Given the description of an element on the screen output the (x, y) to click on. 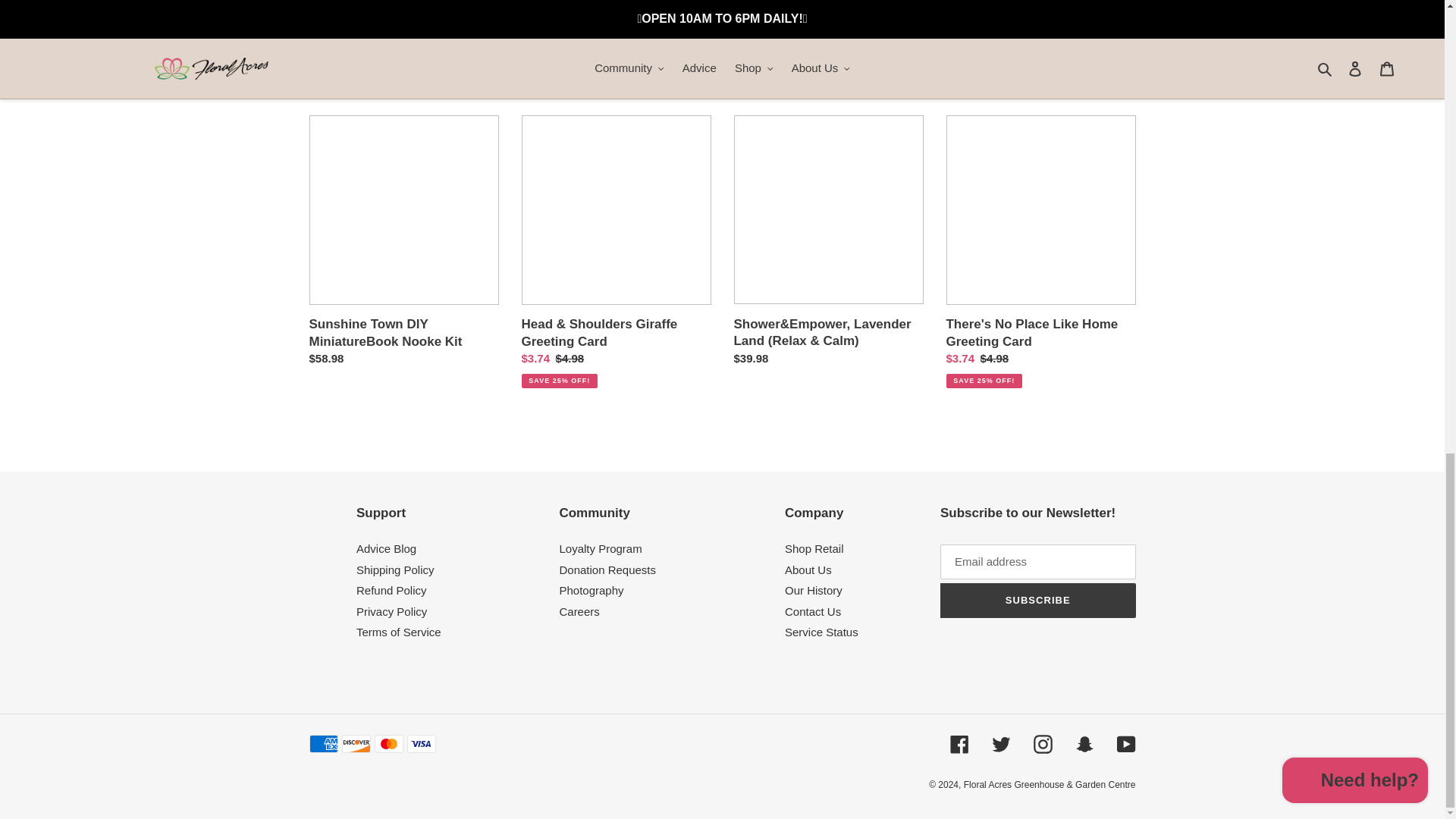
Visa (420, 743)
Discover (354, 743)
Mastercard (388, 743)
American Express (322, 743)
